Given the description of an element on the screen output the (x, y) to click on. 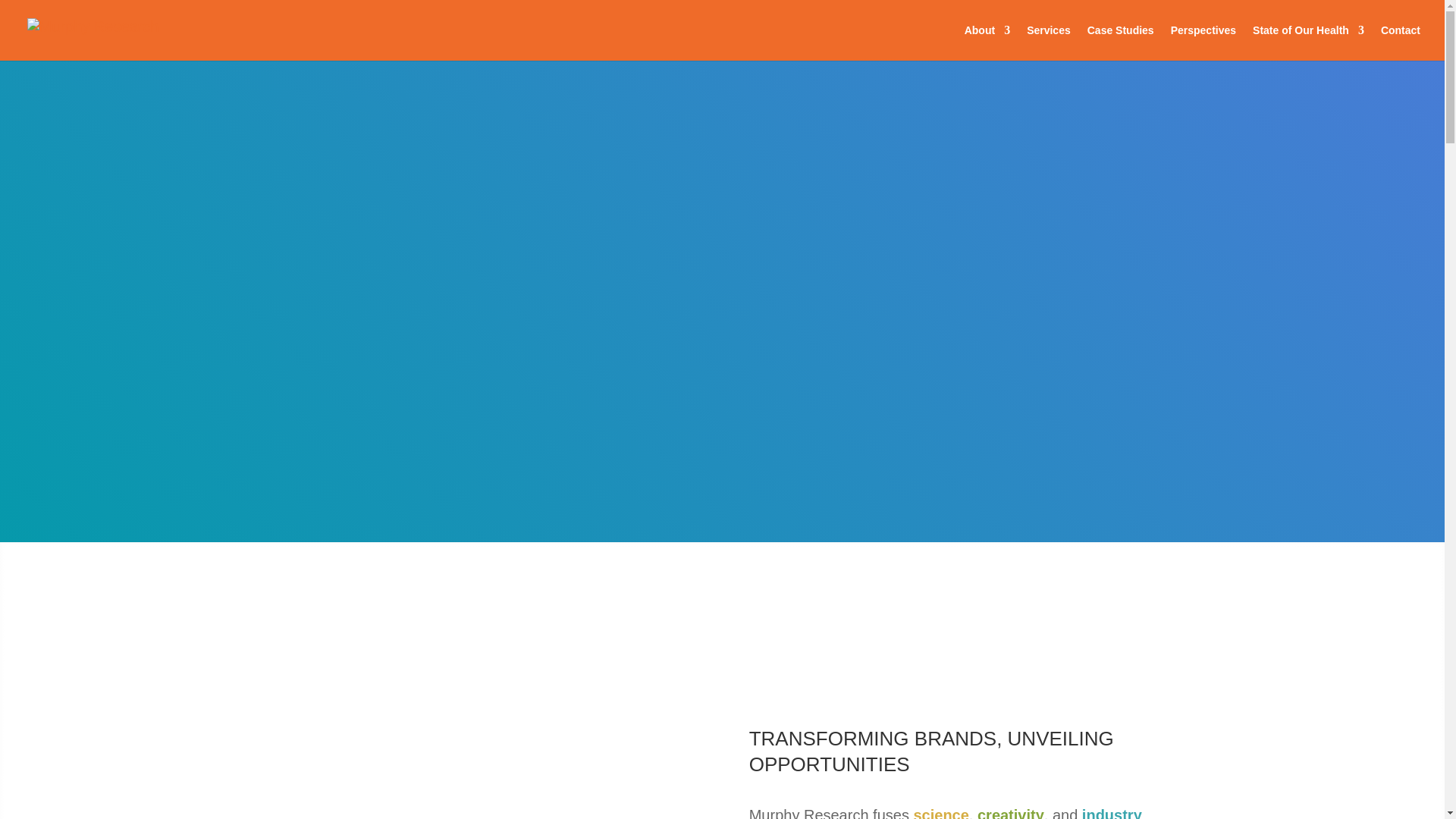
Contact (1400, 42)
Case Studies (1120, 42)
Services (1048, 42)
About (986, 42)
Perspectives (1203, 42)
State of Our Health (1308, 42)
